Given the description of an element on the screen output the (x, y) to click on. 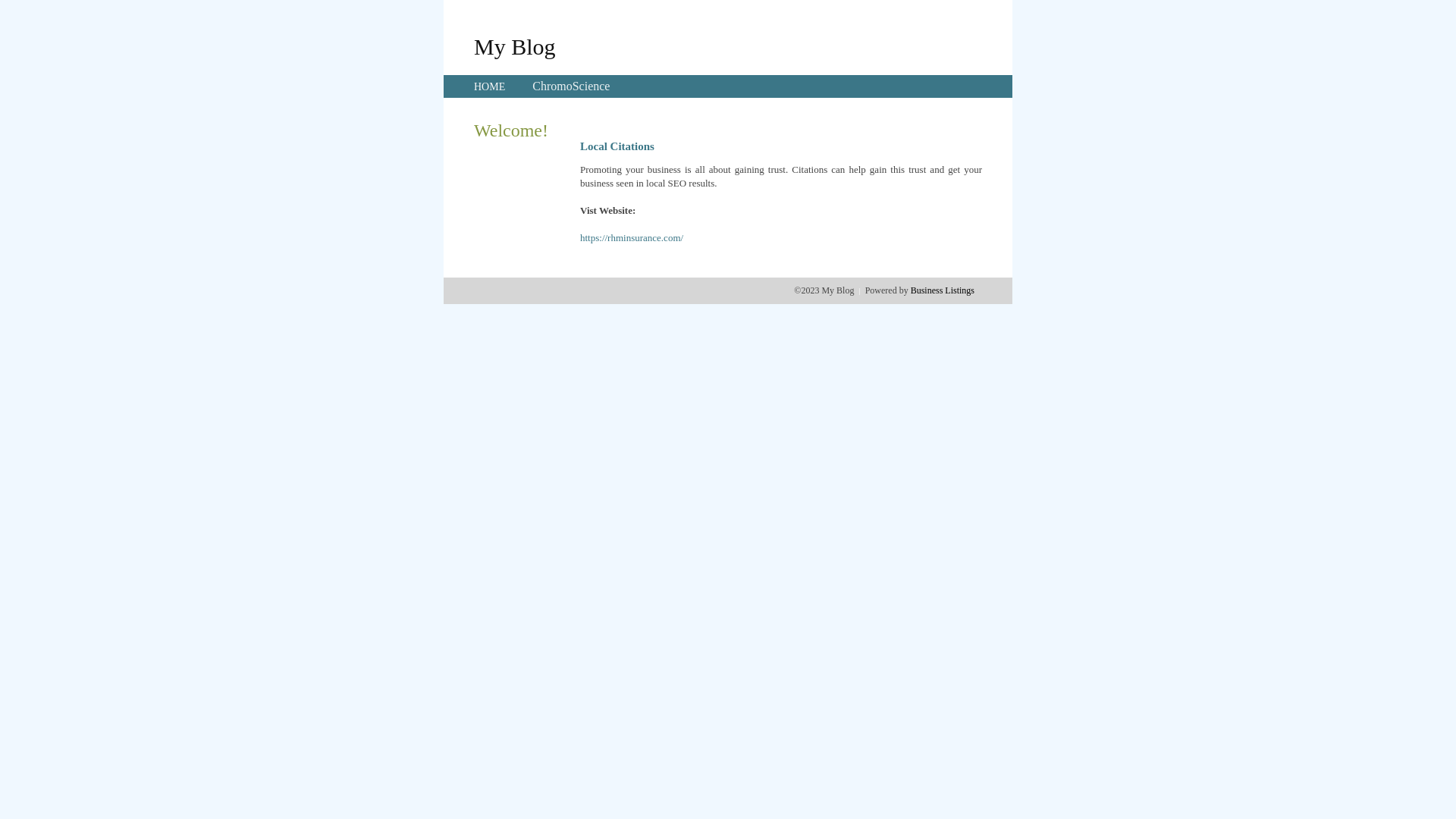
HOME Element type: text (489, 86)
My Blog Element type: text (514, 46)
ChromoScience Element type: text (570, 85)
Business Listings Element type: text (942, 290)
https://rhminsurance.com/ Element type: text (631, 237)
